Given the description of an element on the screen output the (x, y) to click on. 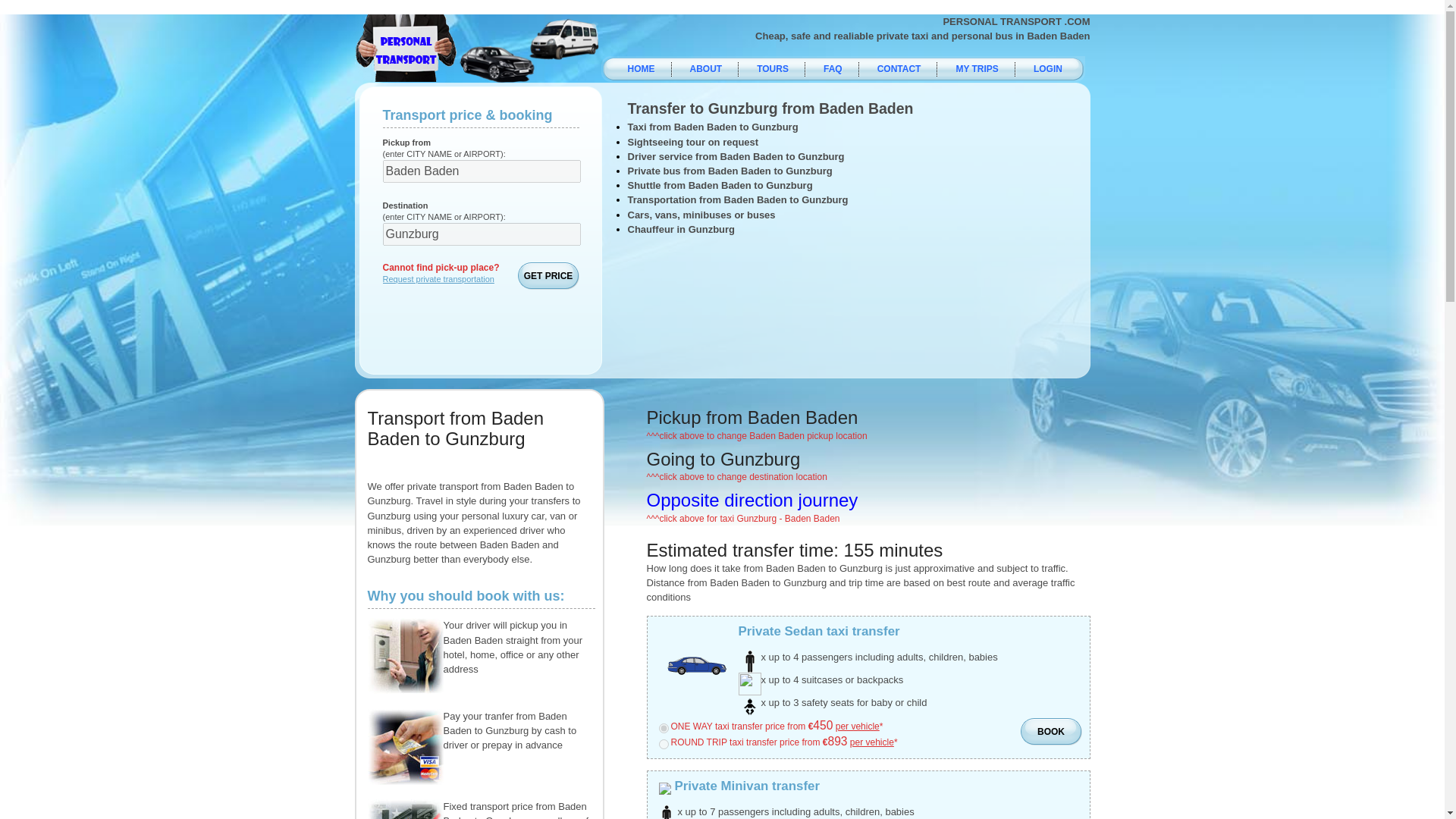
LOGIN (1046, 71)
CONTACT (898, 71)
HOME (638, 71)
MY TRIPS (974, 71)
Other transportation from Baden Baden (722, 458)
Book Sedan transport from Baden Baden to Gunzburg (1050, 732)
Transportation from Gunzburg to Baden Baden (751, 499)
on (663, 744)
BOOK (1050, 732)
ABOUT (703, 71)
GET PRICE (547, 276)
Build private transfer (437, 278)
Personal Transport home page (638, 71)
Request private transportation (437, 278)
Gunzburg (480, 233)
